Given the description of an element on the screen output the (x, y) to click on. 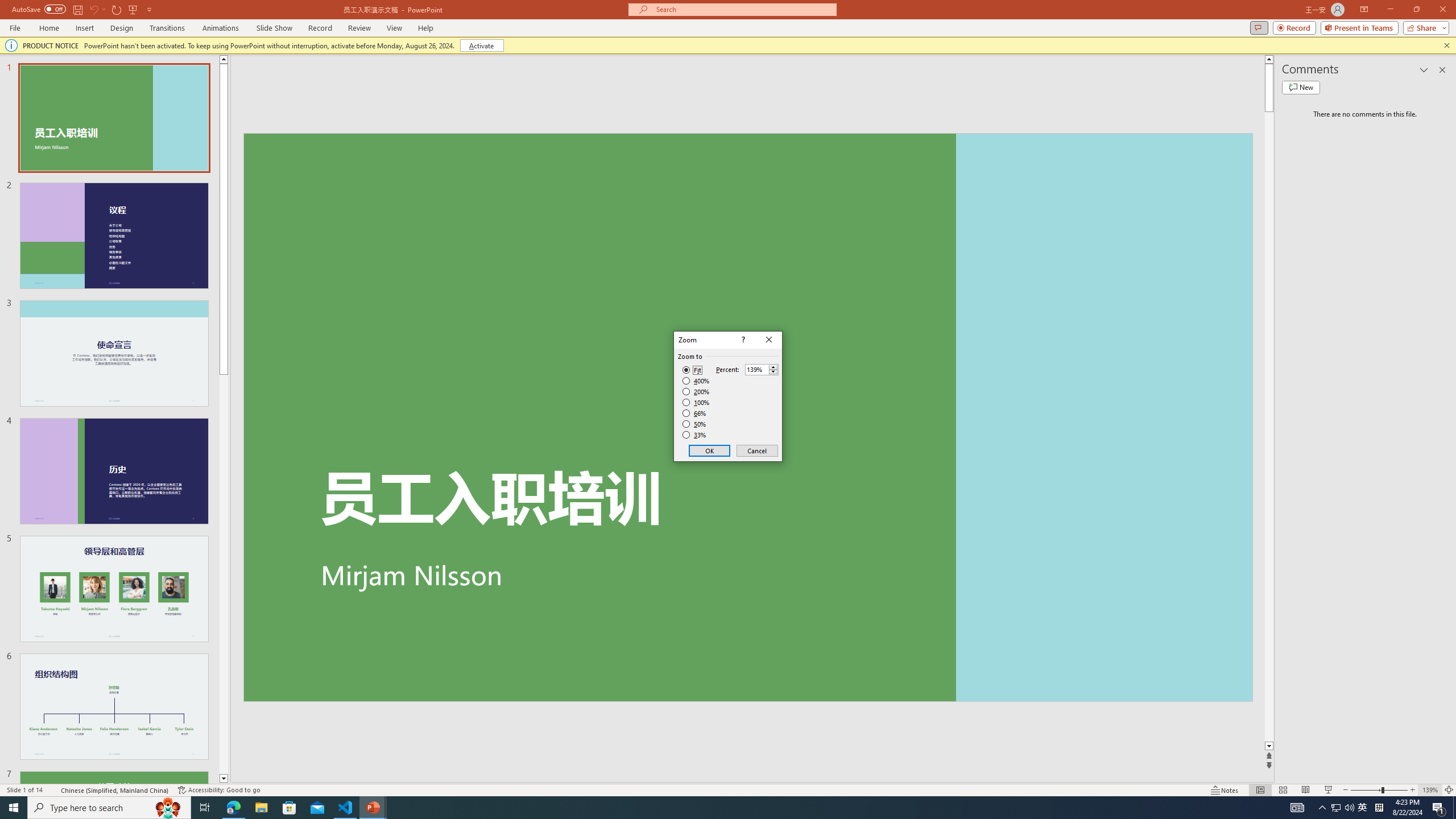
Percent (756, 369)
Customize Quick Access Toolbar (149, 9)
System (6, 6)
Class: MsoCommandBar (728, 789)
66% (694, 412)
Normal (1260, 790)
Quick Access Toolbar (82, 9)
400% (696, 380)
Help (425, 28)
View (395, 28)
Design (122, 28)
OK (709, 450)
Cancel (756, 450)
Search highlights icon opens search home window (167, 807)
50% (694, 424)
